Given the description of an element on the screen output the (x, y) to click on. 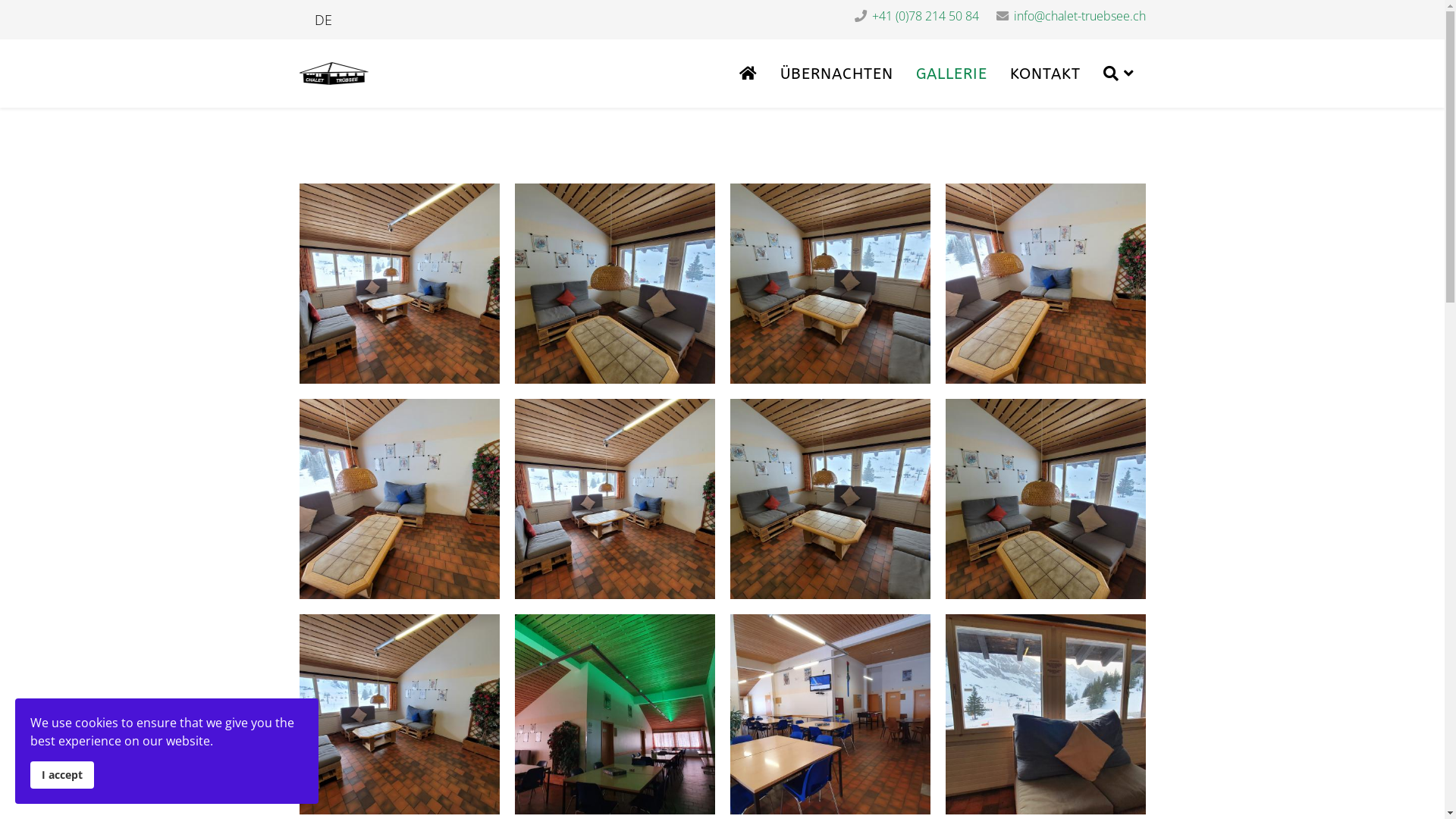
Aufenthalt 33 Element type: hover (614, 714)
Aufenthalt 5 Element type: hover (1044, 498)
Aufenthalt 9 Element type: hover (1044, 283)
Aufenthalt 6 Element type: hover (829, 498)
KONTAKT Element type: text (1044, 74)
Aufenthalt 8 Element type: hover (398, 498)
Aufenthalt 1 Element type: hover (398, 283)
+41 (0)78 214 50 84 Element type: text (925, 15)
GALLERIE Element type: text (950, 74)
DE Element type: text (322, 19)
Aufenthalt Element type: hover (1044, 714)
Aufenthalt 3 Element type: hover (398, 714)
info@chalet-truebsee.ch Element type: text (1079, 15)
Aufenthalt 4 Element type: hover (614, 283)
Aufenthalt 7 Element type: hover (829, 283)
Aufenthalt 2 Element type: hover (614, 498)
I accept Element type: text (62, 774)
Aufenthalt 19 Element type: hover (829, 714)
